Given the description of an element on the screen output the (x, y) to click on. 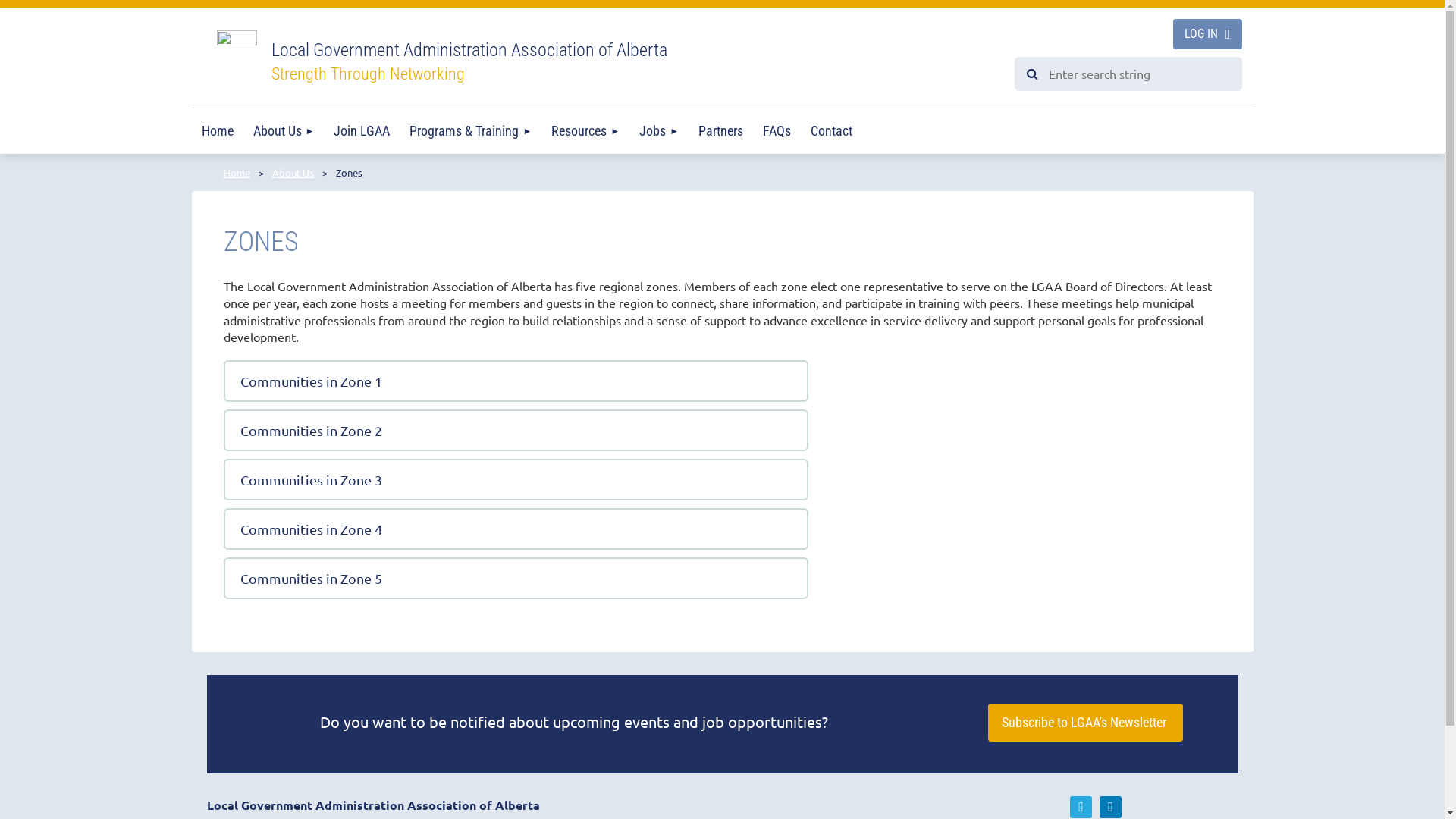
Resources Element type: text (585, 130)
Subscribe to LGAA's Newsletter  Element type: text (1085, 722)
LinkedIn Element type: hover (1110, 807)
Join LGAA Element type: text (361, 130)
Twitter Element type: hover (1081, 807)
FAQs Element type: text (776, 130)
Contact Element type: text (831, 130)
Home Element type: text (235, 172)
LOG IN Element type: text (1207, 33)
Partners Element type: text (720, 130)
About Us Element type: text (292, 172)
Home Element type: text (216, 130)
About Us Element type: text (282, 130)
Programs & Training Element type: text (470, 130)
Jobs Element type: text (658, 130)
